Given the description of an element on the screen output the (x, y) to click on. 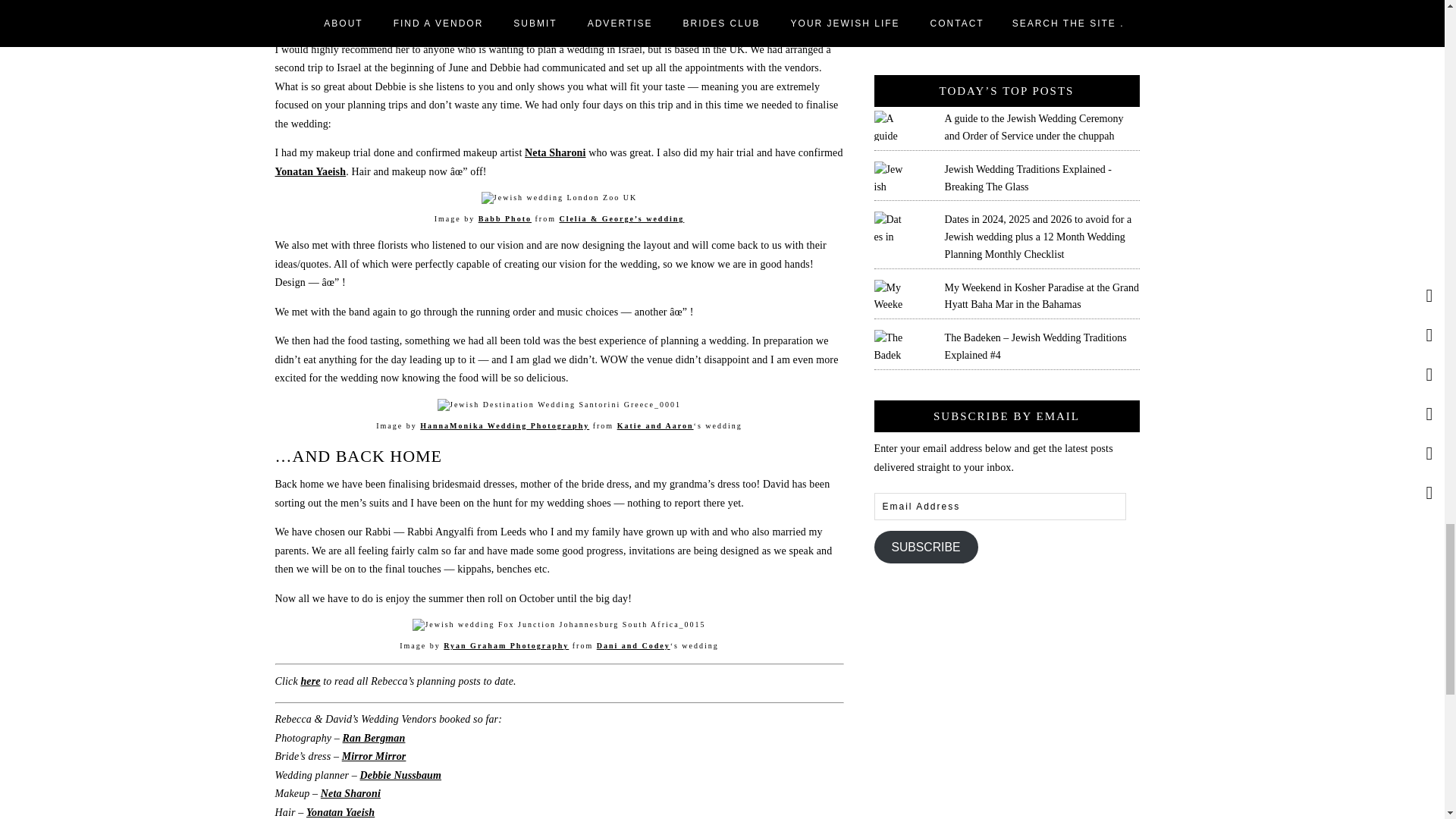
Jewish Wedding Traditions Explained - Breaking The Glass (1028, 177)
